Given the description of an element on the screen output the (x, y) to click on. 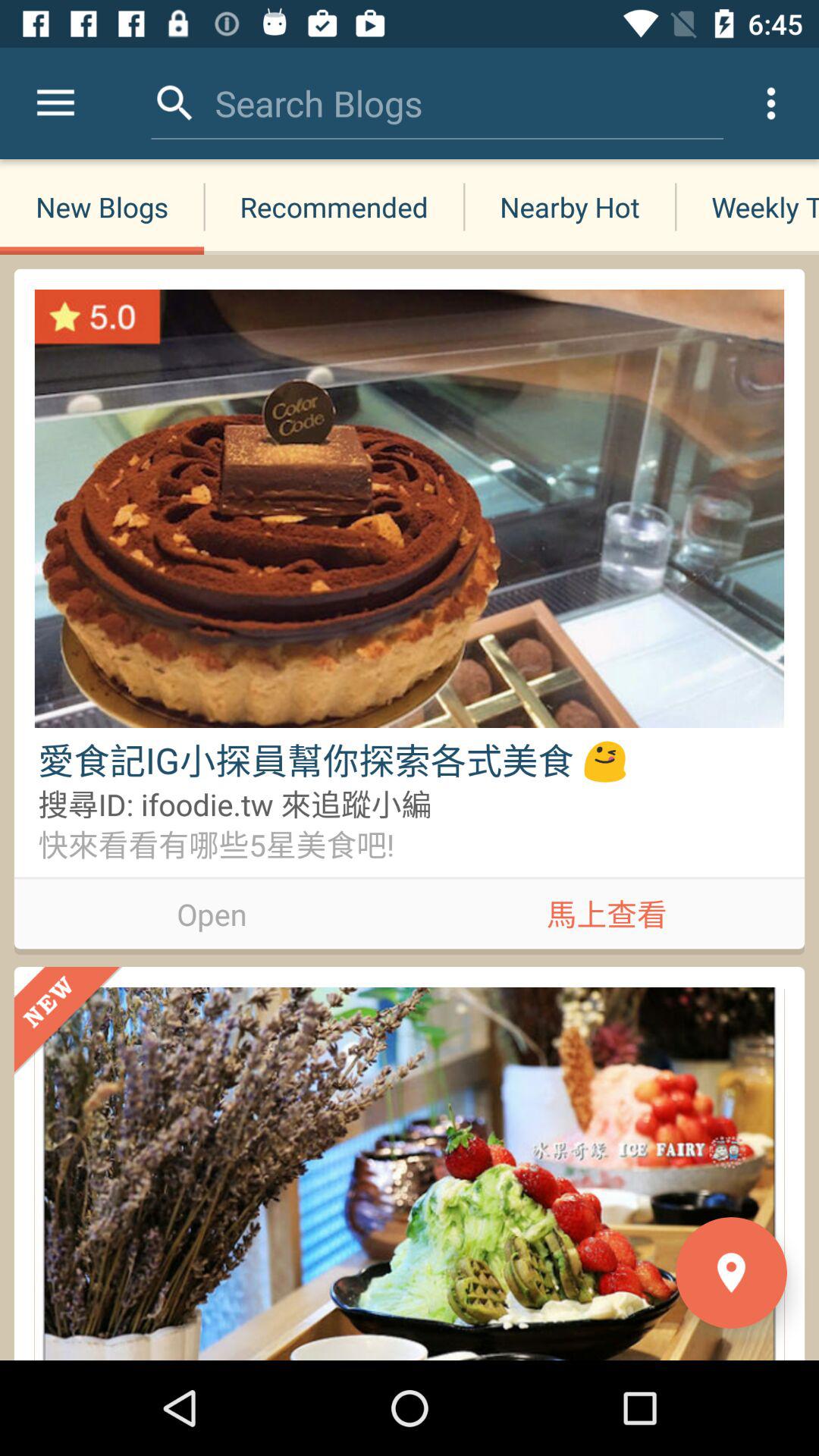
open item next to the nearby hot icon (334, 206)
